Given the description of an element on the screen output the (x, y) to click on. 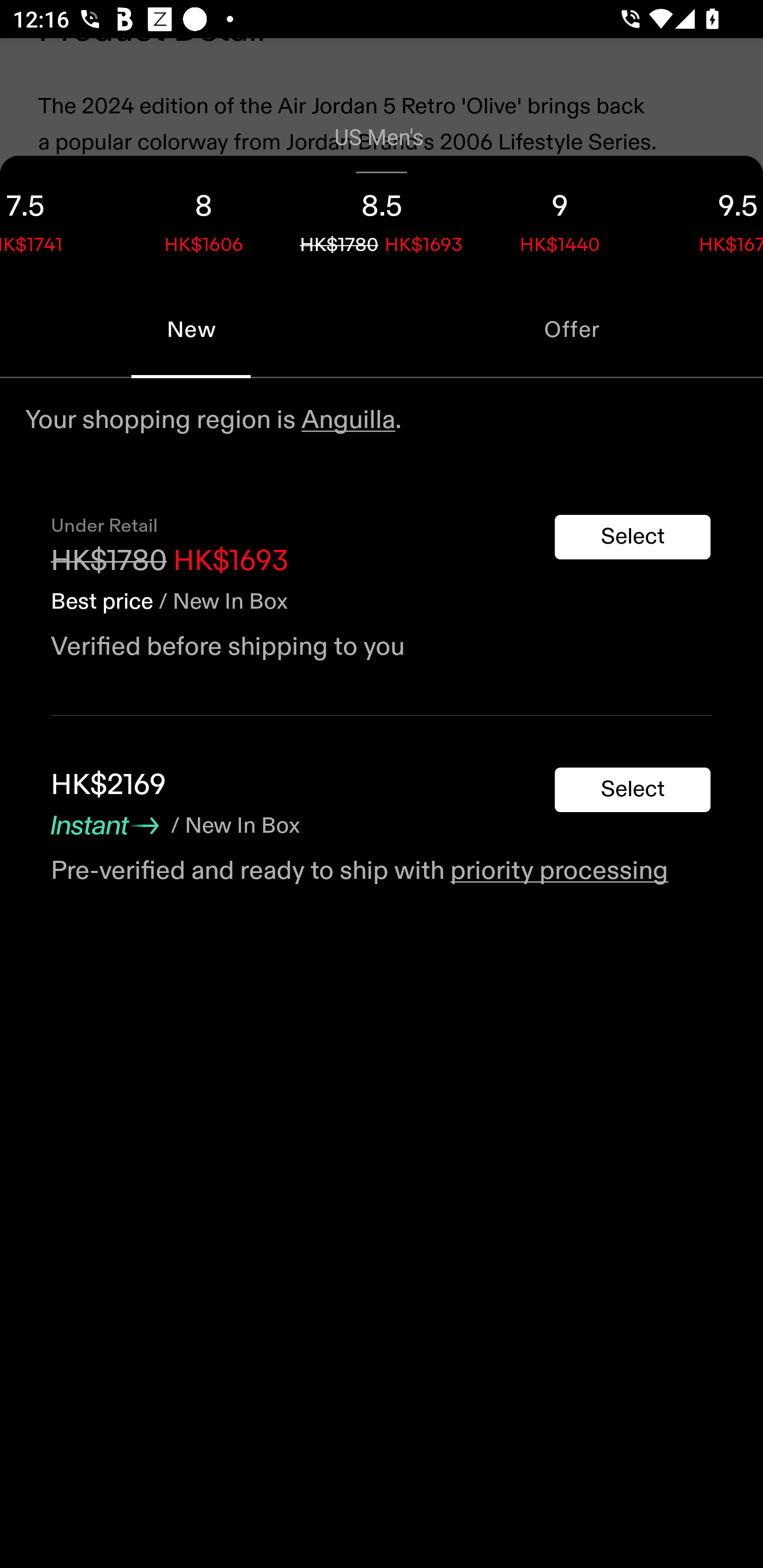
7.5 HK$1741 (57, 218)
8 HK$1606 (203, 218)
8.5 HK$1780 HK$1693 (381, 218)
9 HK$1440 (559, 218)
9.5 HK$1670 (705, 218)
Offer (572, 329)
Select (632, 536)
HK$2169 (108, 785)
Select (632, 789)
